Given the description of an element on the screen output the (x, y) to click on. 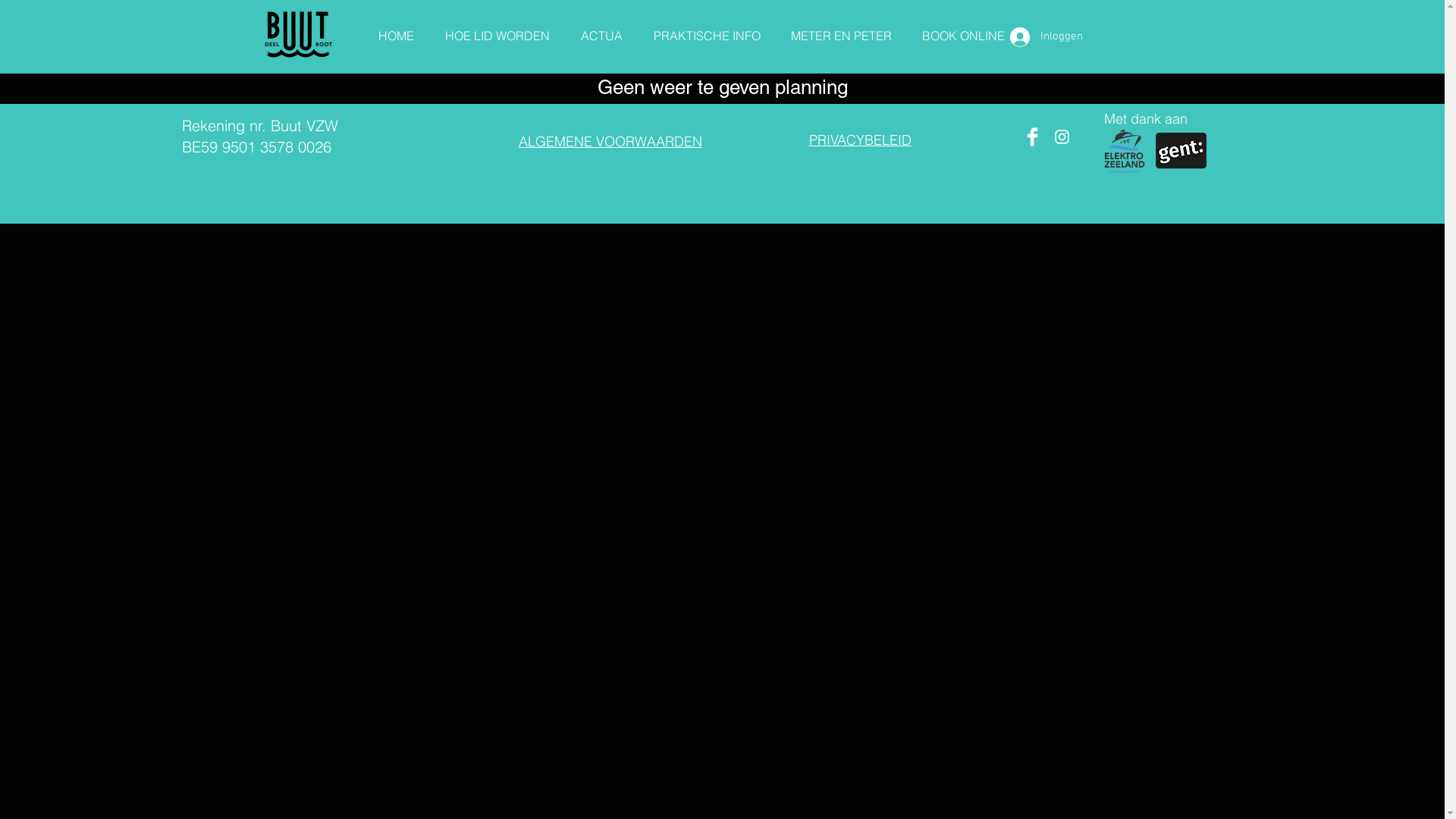
BOOK ONLINE Element type: text (962, 28)
ACTUA Element type: text (601, 28)
METER EN PETER Element type: text (840, 28)
ALGEMENE VOORWAARDEN Element type: text (610, 141)
logo elektrozeeland DEF (002).jpg Element type: hover (1123, 150)
logoGent_c100.png Element type: hover (1180, 150)
HOE LID WORDEN Element type: text (496, 28)
Inloggen Element type: text (1046, 36)
HOME Element type: text (395, 28)
PRAKTISCHE INFO Element type: text (706, 28)
PRIVACYBELEID Element type: text (859, 139)
